Given the description of an element on the screen output the (x, y) to click on. 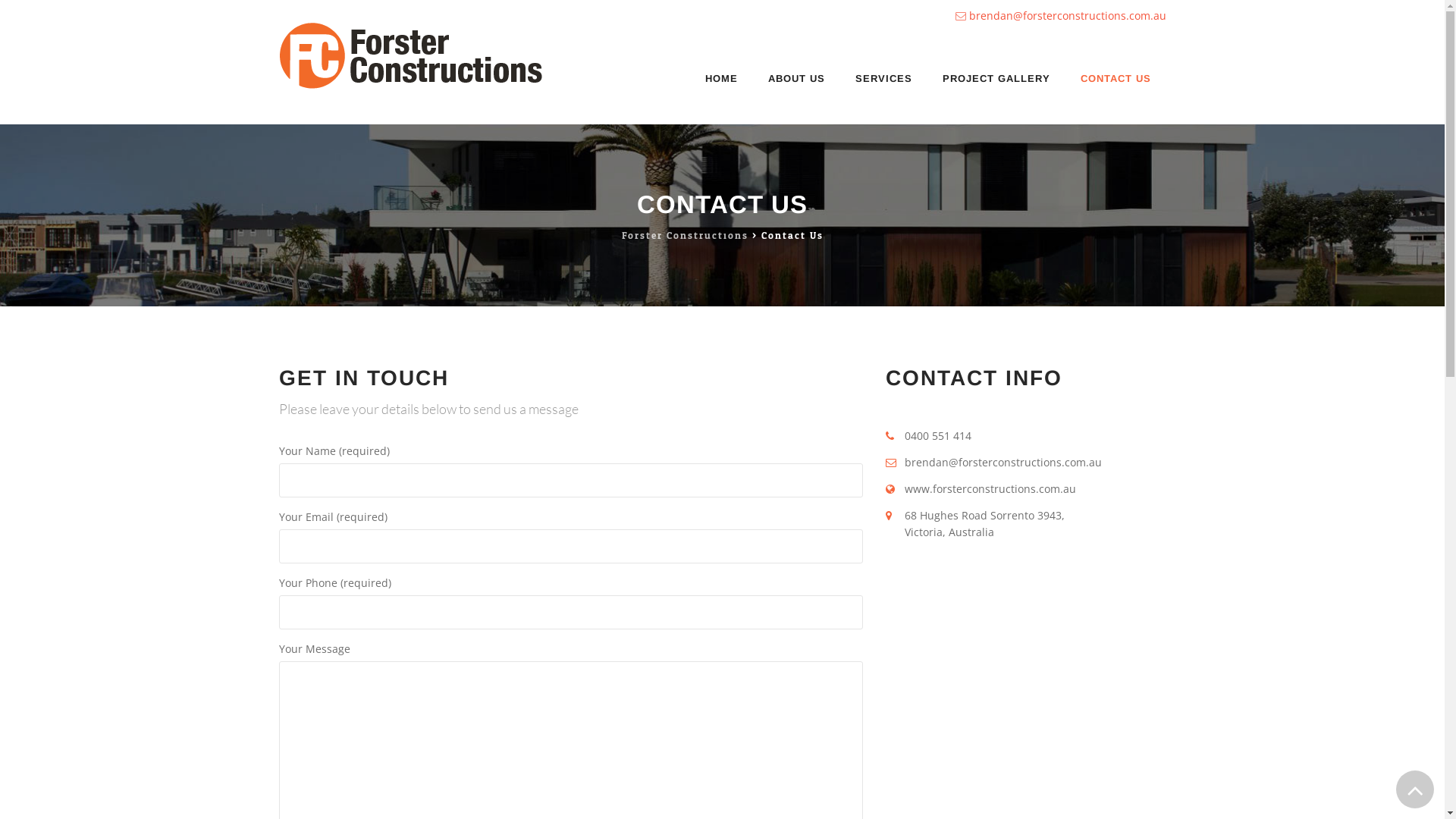
Forster Constructions Element type: hover (412, 55)
HOME Element type: text (721, 78)
Forster Constructions Element type: text (684, 235)
www.forsterconstructions.com.au Element type: text (989, 488)
SERVICES Element type: text (883, 78)
brendan@forsterconstructions.com.au Element type: text (1067, 15)
brendan@forsterconstructions.com.au Element type: text (1002, 462)
Skip to content Element type: text (682, 31)
ABOUT US Element type: text (795, 78)
CONTACT US Element type: text (1114, 78)
PROJECT GALLERY Element type: text (995, 78)
